Given the description of an element on the screen output the (x, y) to click on. 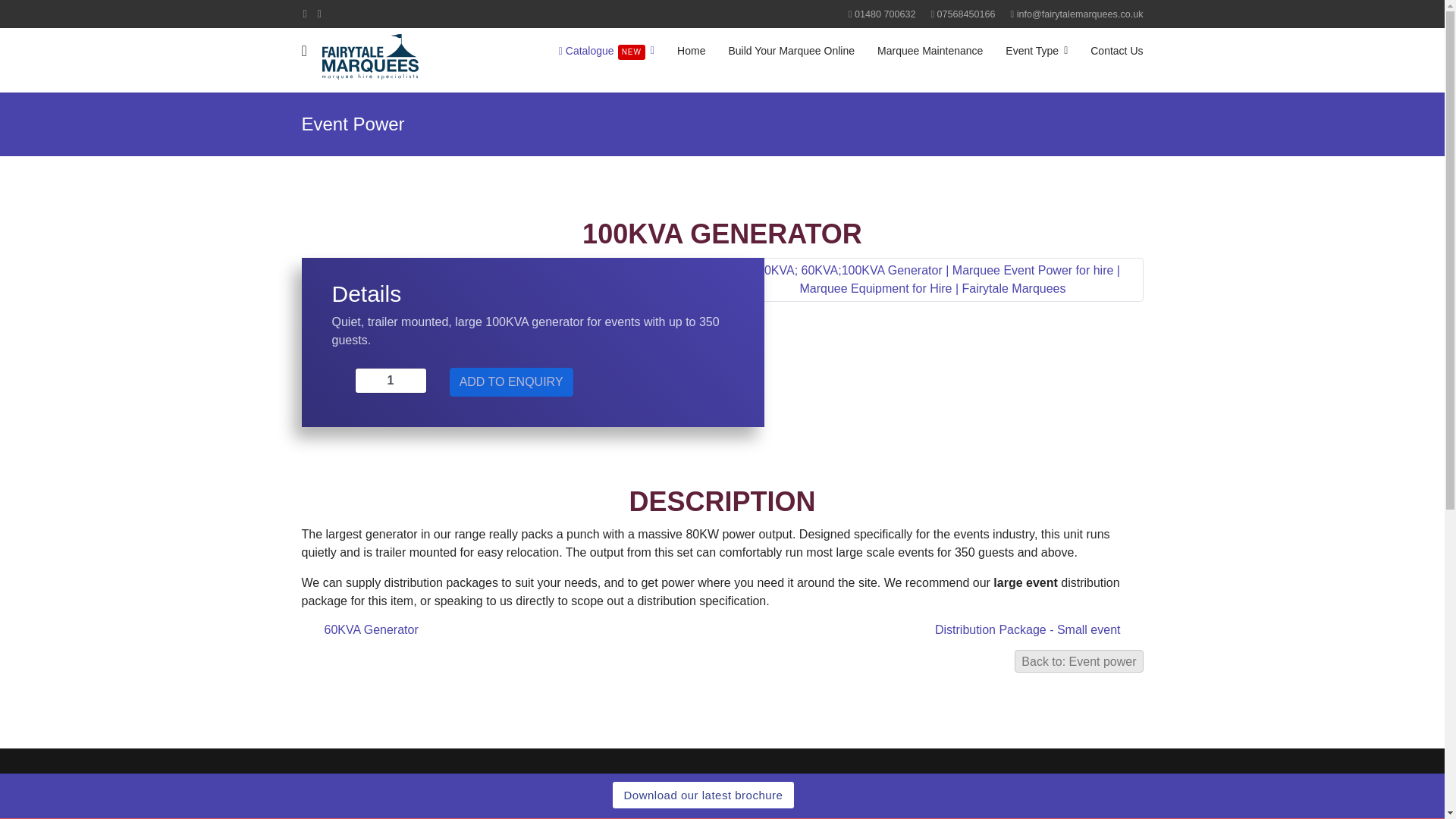
ADD TO ENQUIRY (511, 381)
CatalogueNEW (606, 50)
1 (390, 380)
Download our latest brochure (703, 795)
07568450166 (966, 14)
01480 700632 (884, 14)
Event power (1078, 661)
ADD TO ENQUIRY (511, 381)
